Given the description of an element on the screen output the (x, y) to click on. 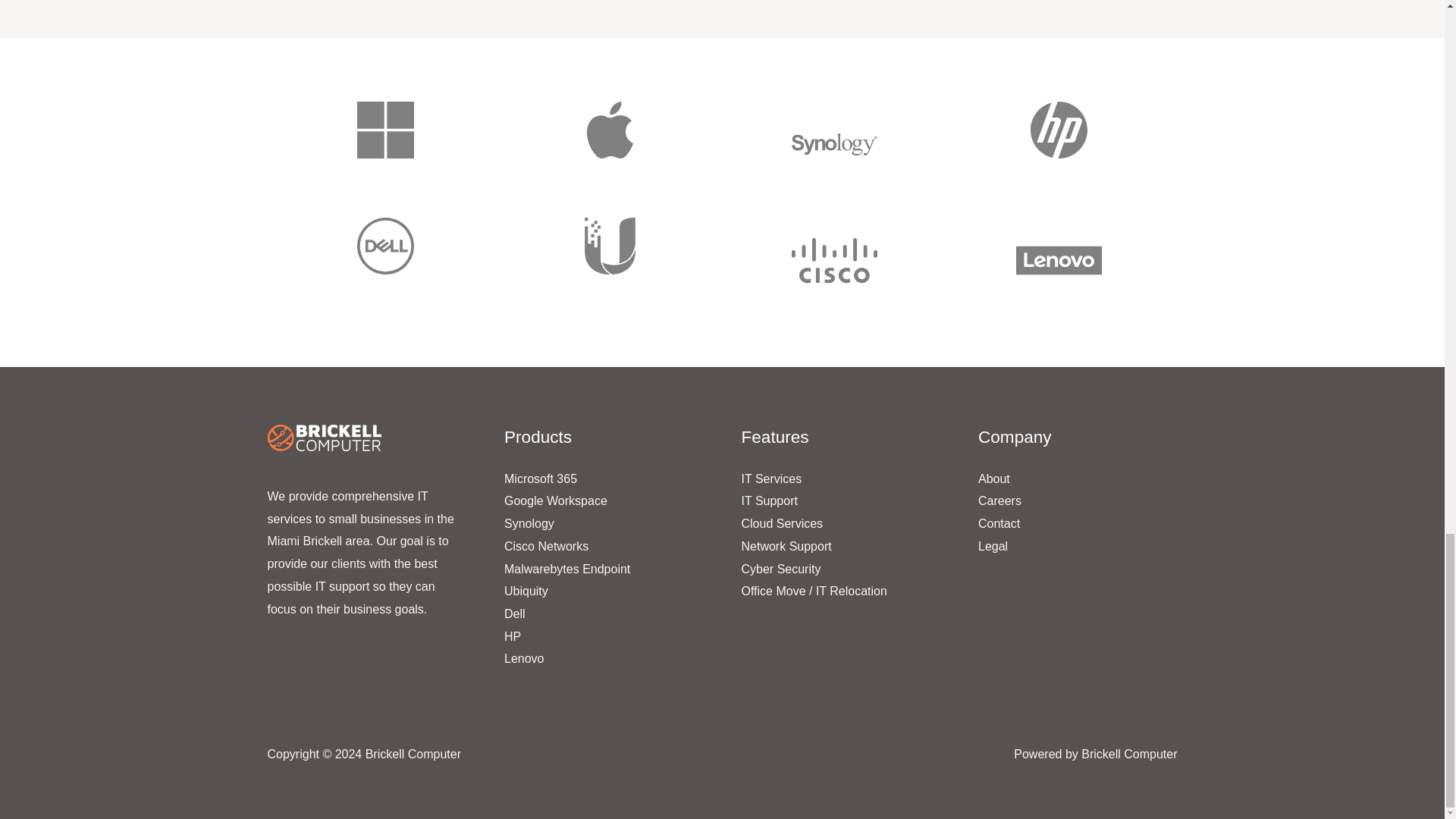
Microsoft 365 (539, 478)
Synology (528, 522)
Cisco Networks (545, 545)
Malwarebytes Endpoint (566, 568)
HP (512, 635)
Lenovo (523, 658)
IT Services (771, 478)
Ubiquity (525, 590)
IT Support (769, 500)
Dell (514, 613)
Google Workspace (555, 500)
